Given the description of an element on the screen output the (x, y) to click on. 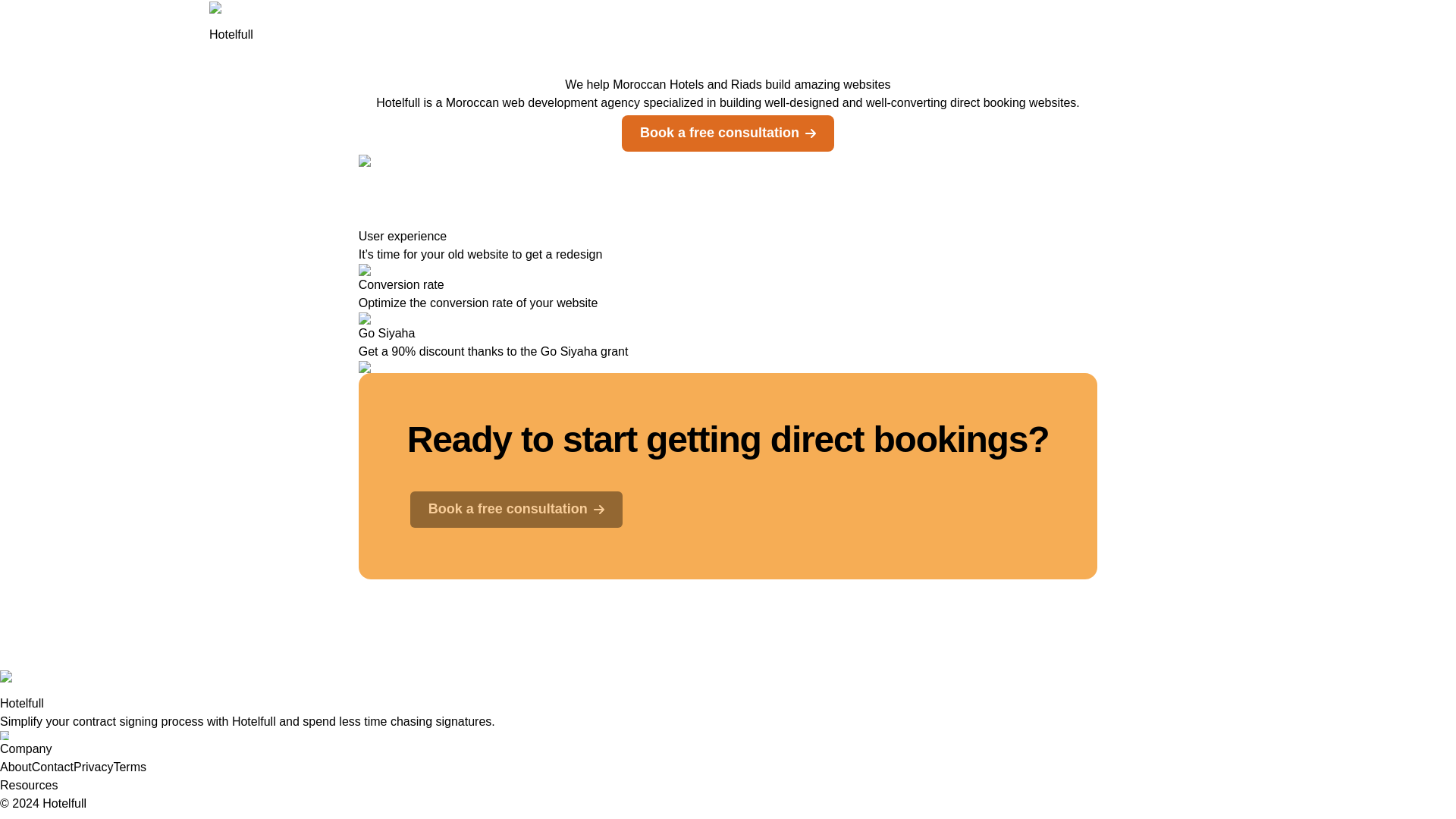
Terms (130, 766)
Hotelfull (231, 22)
Book a free consultation (516, 508)
Book a free consultation (727, 132)
About (16, 766)
Contact (53, 766)
Book a free consultation (516, 509)
Privacy (93, 766)
